Given the description of an element on the screen output the (x, y) to click on. 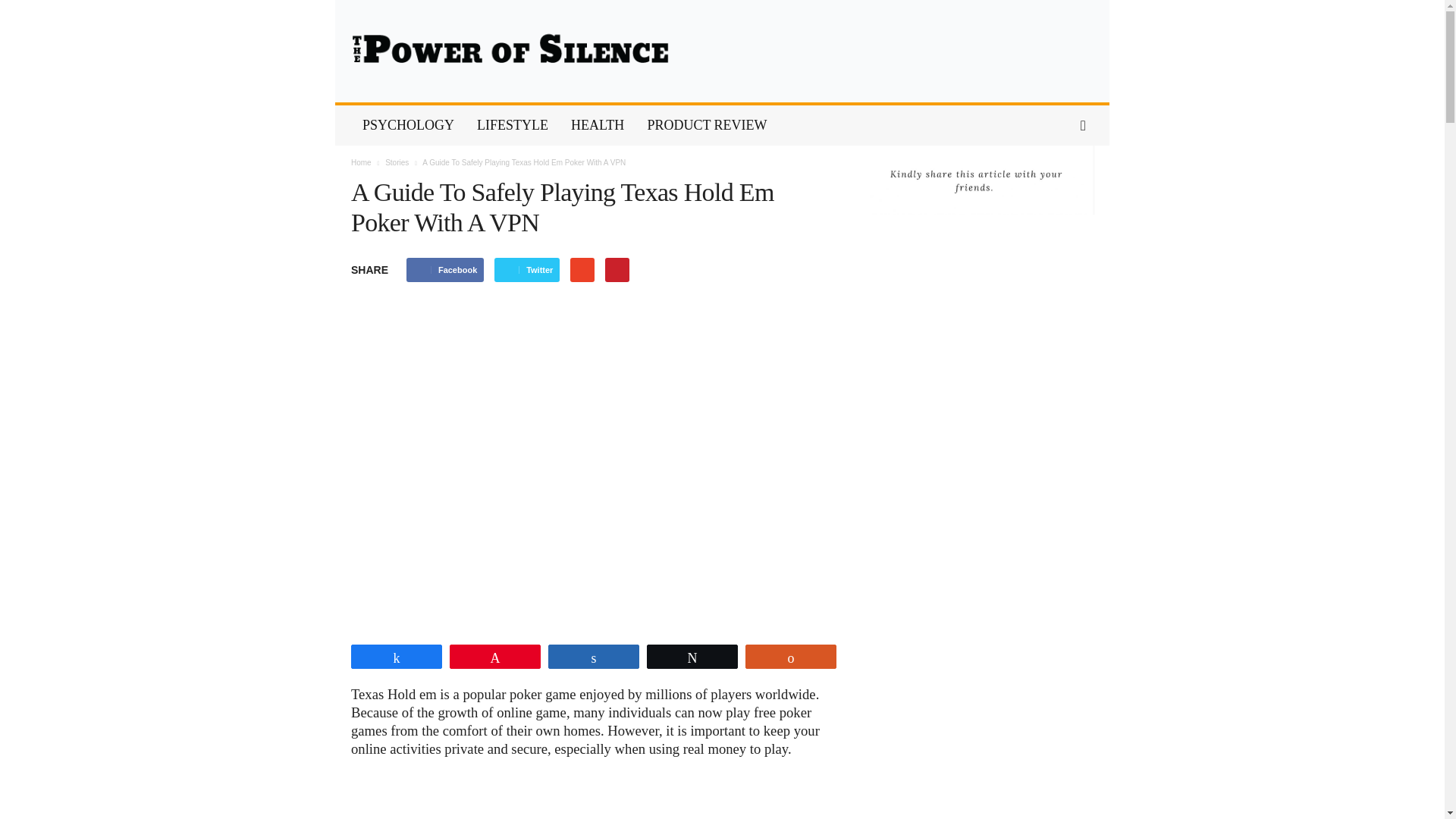
View all posts in Stories (397, 162)
The Power Of Silence (721, 51)
PRODUCT REVIEW (705, 125)
Twitter (527, 269)
Stories (397, 162)
Facebook (444, 269)
HEALTH (596, 125)
PSYCHOLOGY (407, 125)
LIFESTYLE (512, 125)
Home (360, 162)
